Given the description of an element on the screen output the (x, y) to click on. 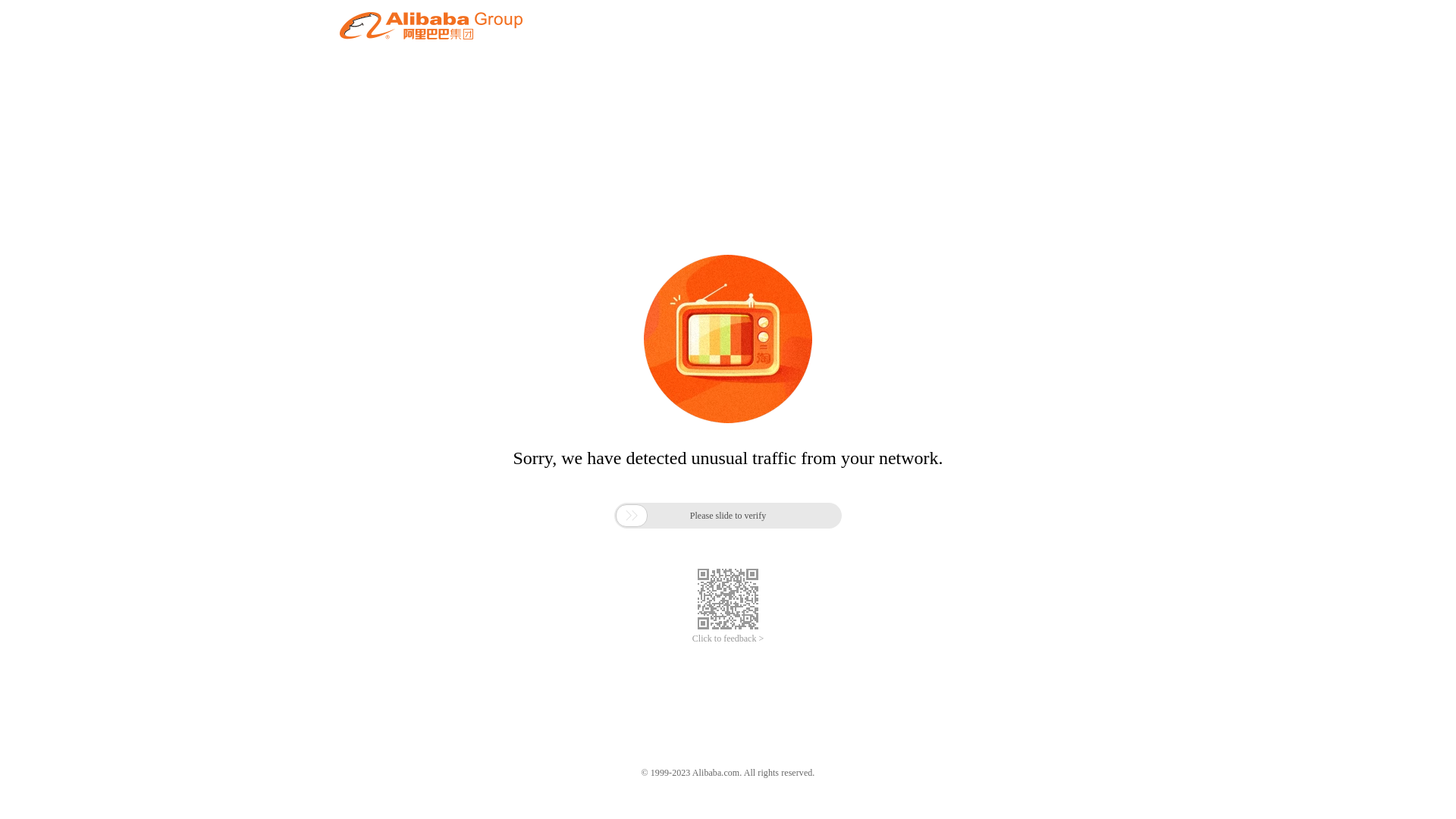
Click to feedback > Element type: text (727, 638)
